Given the description of an element on the screen output the (x, y) to click on. 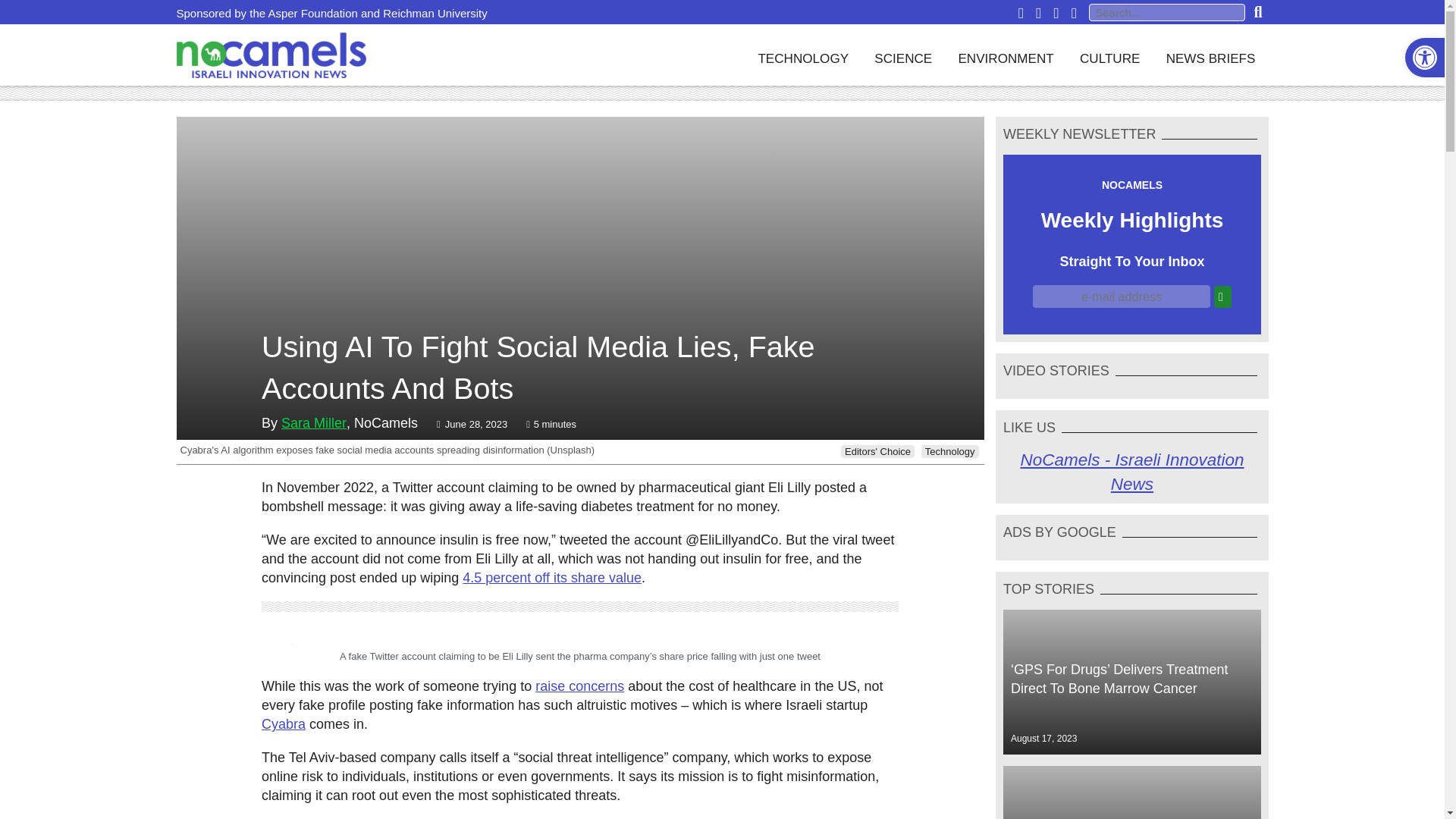
NEWS BRIEFS (1210, 55)
raise concerns (579, 685)
Sara Miller (313, 422)
Using AI To Fight Social Media Lies, Fake Accounts And Bots (579, 367)
Reichman University (434, 11)
Cyabra (283, 724)
Using AI To Fight Social Media Lies, Fake Accounts And Bots (579, 367)
the Asper Foundation (303, 11)
Editors' Choice (877, 451)
Technology (949, 451)
